Given the description of an element on the screen output the (x, y) to click on. 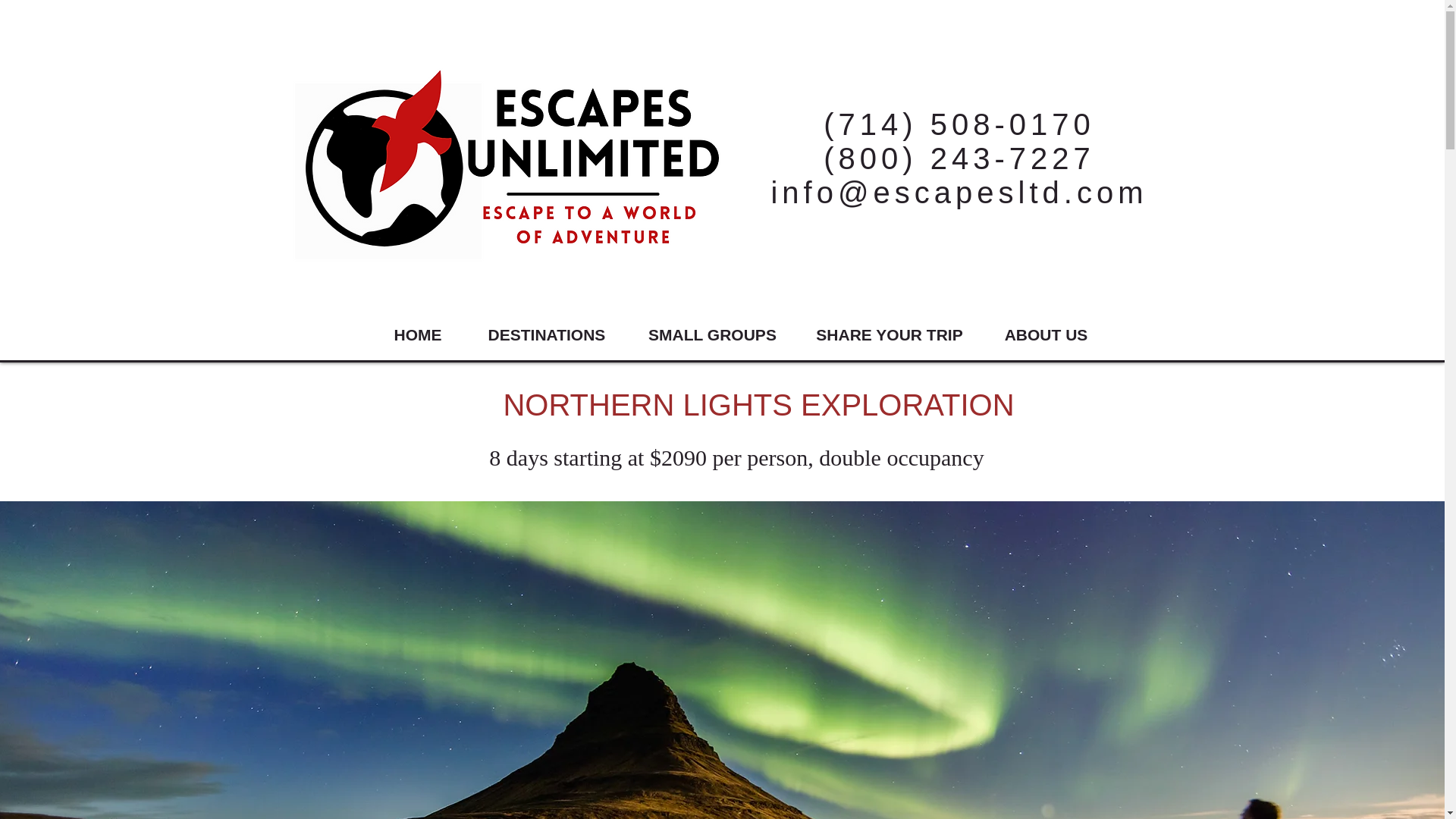
ABOUT US (1045, 334)
HOME (416, 334)
DESTINATIONS (546, 334)
SHARE YOUR TRIP (888, 334)
SMALL GROUPS (711, 334)
